Given the description of an element on the screen output the (x, y) to click on. 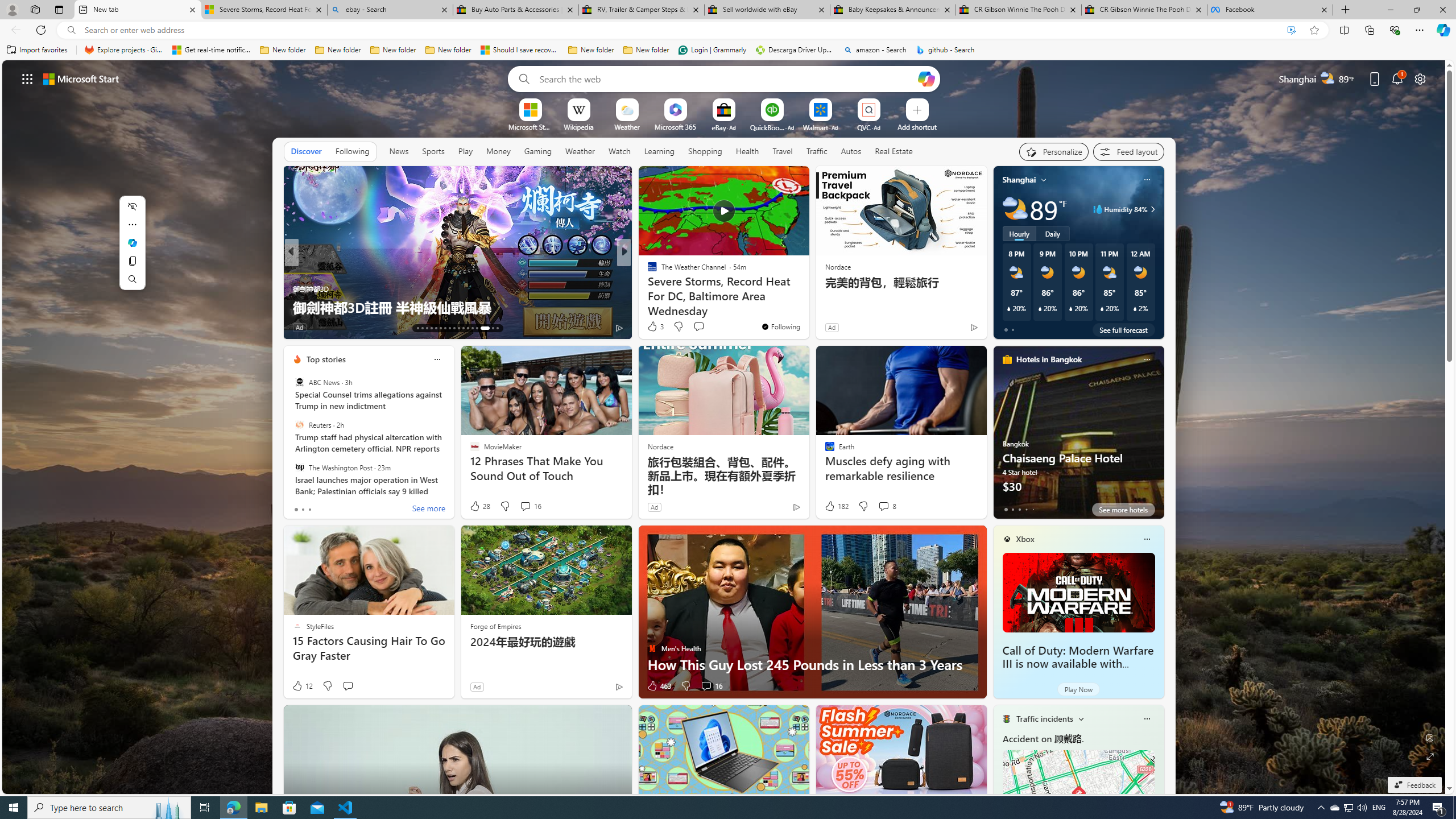
Partly cloudy (1014, 208)
AutomationID: tab-20 (449, 328)
Should I save recovered Word documents? - Microsoft Support (519, 49)
99 Like (652, 327)
Play (465, 151)
Mini menu on text selection (132, 249)
Top stories (325, 359)
Change scenarios (1080, 718)
Personalize your feed" (1054, 151)
App bar (728, 29)
Settings and more (Alt+F) (1419, 29)
AutomationID: tab-28 (489, 328)
Copilot (Ctrl+Shift+.) (1442, 29)
